Given the description of an element on the screen output the (x, y) to click on. 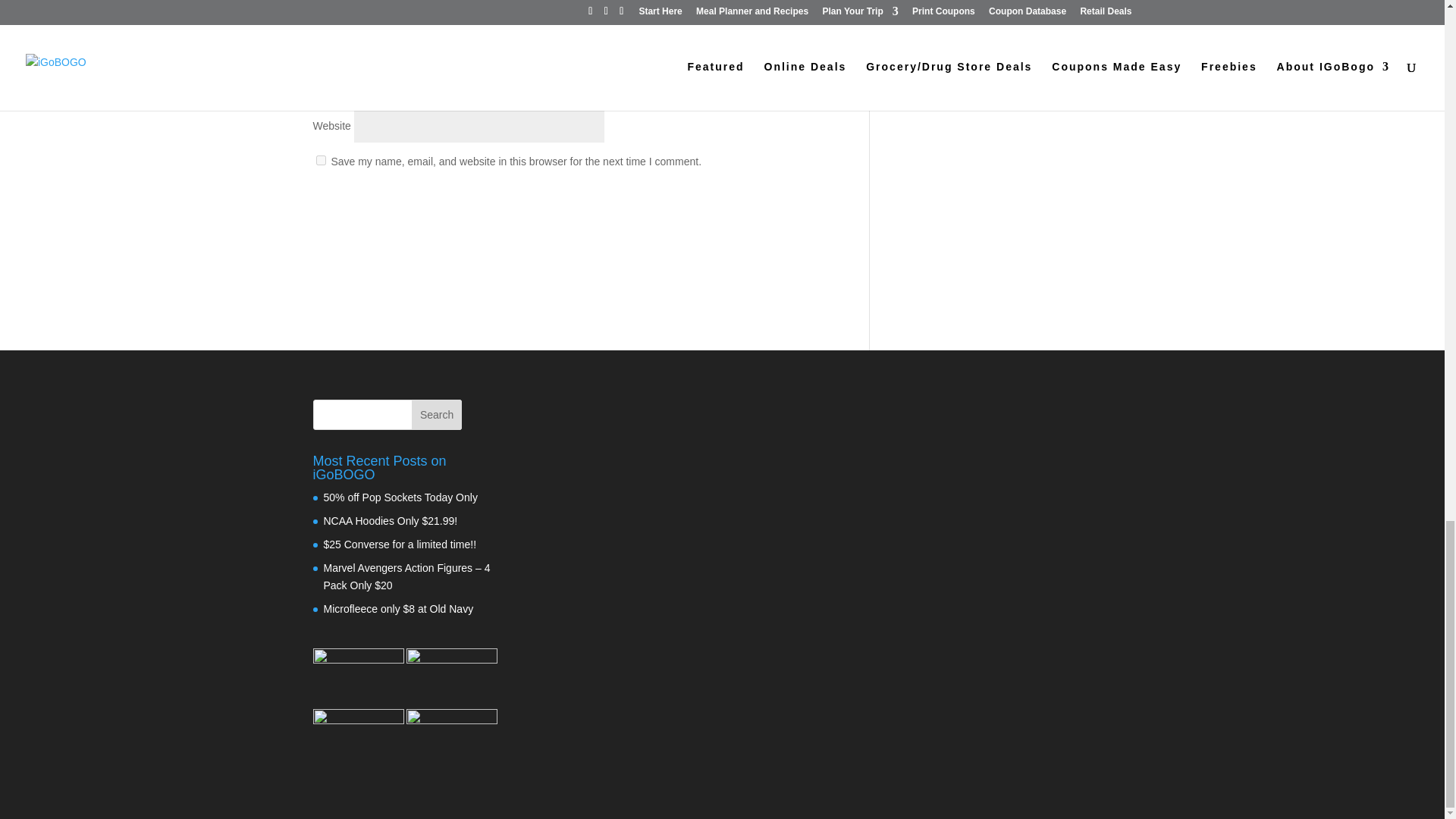
Search (436, 414)
yes (319, 160)
Submit Comment (769, 200)
